Given the description of an element on the screen output the (x, y) to click on. 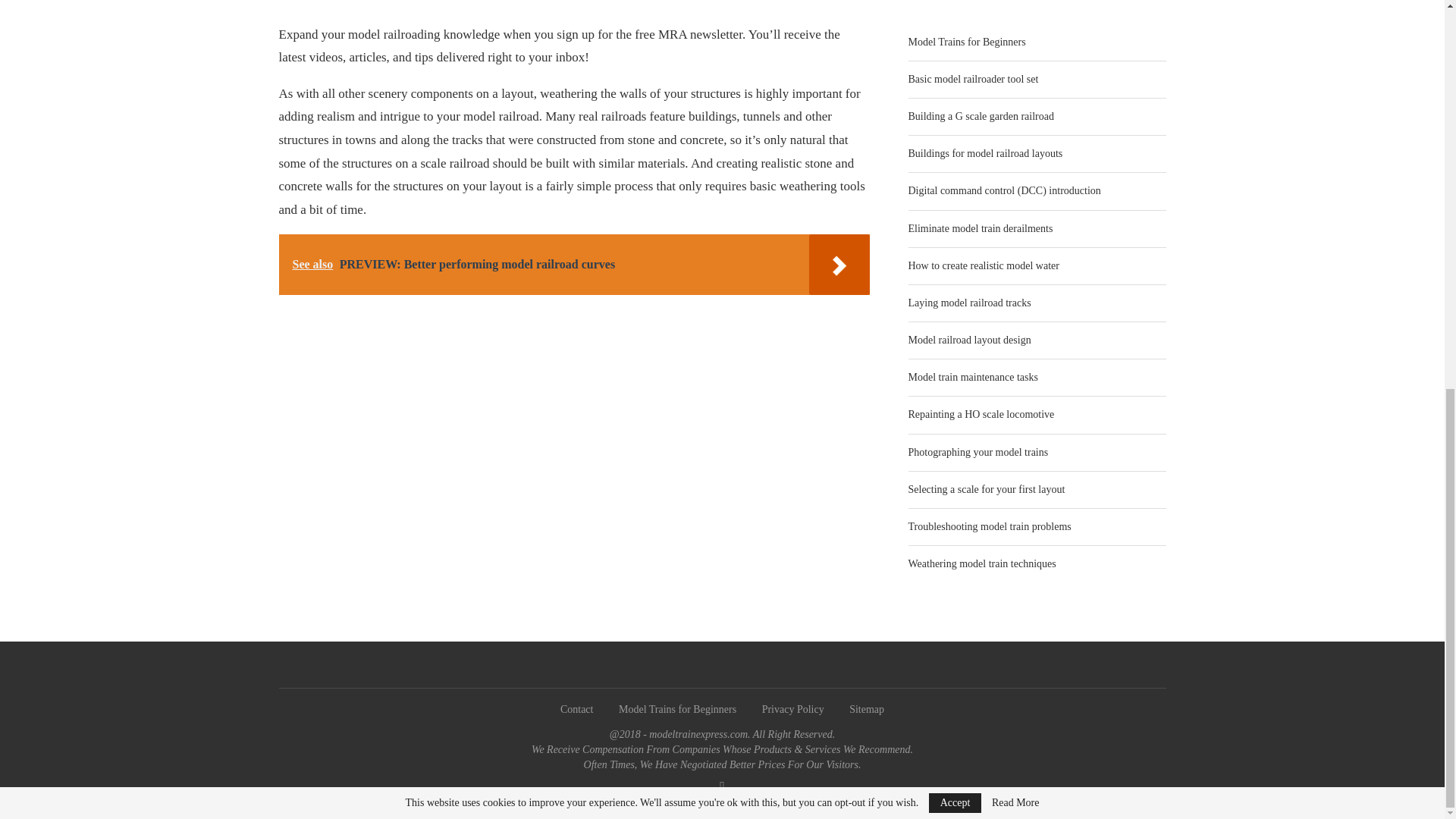
Model Trains for Beginners (967, 41)
Weathering model train techniques (982, 563)
Model train maintenance tasks (973, 377)
See also  PREVIEW: Better performing model railroad curves (574, 264)
Contact (577, 708)
Buildings for model railroad layouts (985, 153)
Selecting a scale for your first layout (986, 489)
BACK TO TOP (721, 799)
Basic model railroader tool set (973, 79)
Laying model railroad tracks (969, 302)
